Given the description of an element on the screen output the (x, y) to click on. 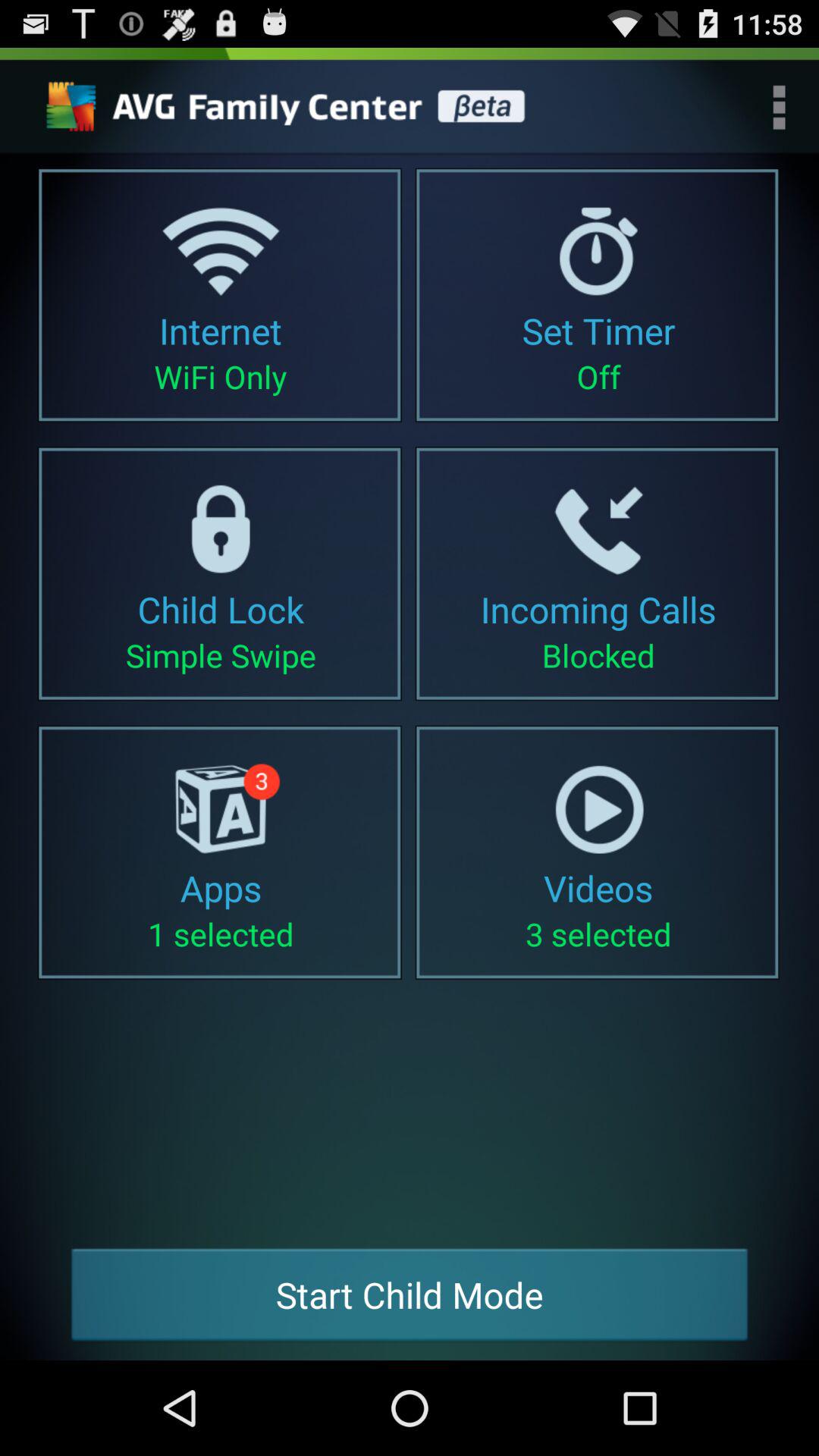
more options (779, 107)
